Given the description of an element on the screen output the (x, y) to click on. 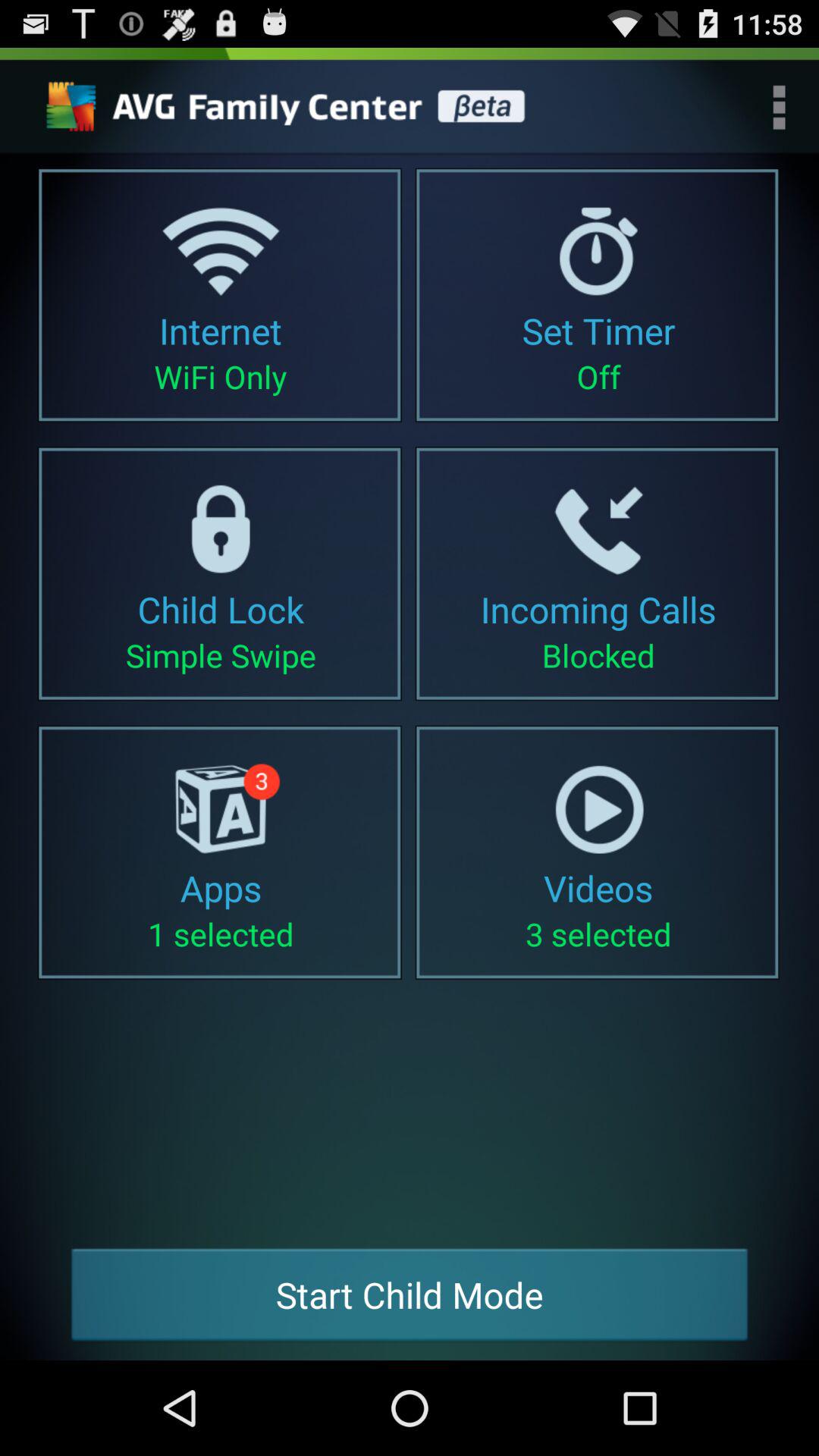
more options (779, 107)
